Given the description of an element on the screen output the (x, y) to click on. 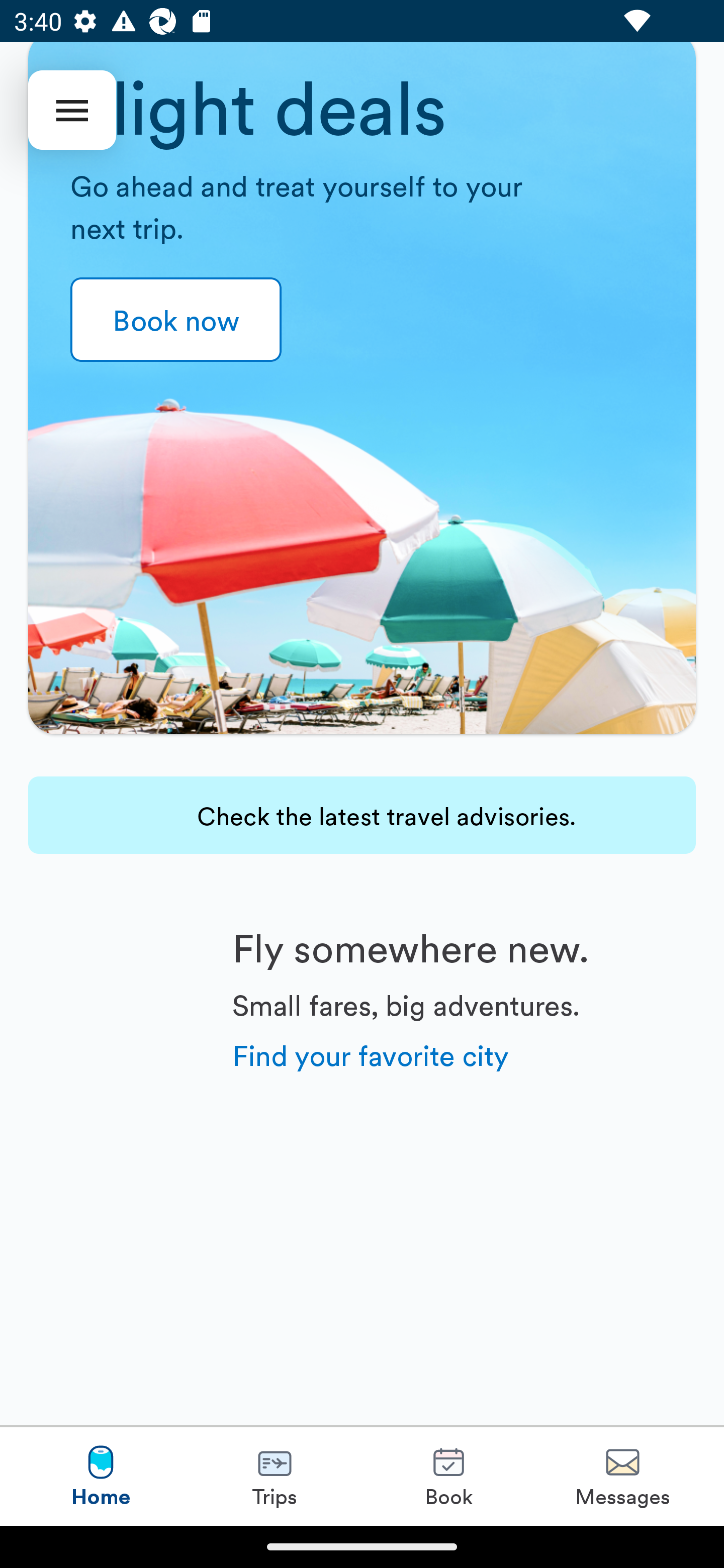
Book now (175, 319)
Check the latest travel advisories. (361, 815)
Find your favorite city (370, 1054)
Home (100, 1475)
Trips (275, 1475)
Book (448, 1475)
Messages (622, 1475)
